Given the description of an element on the screen output the (x, y) to click on. 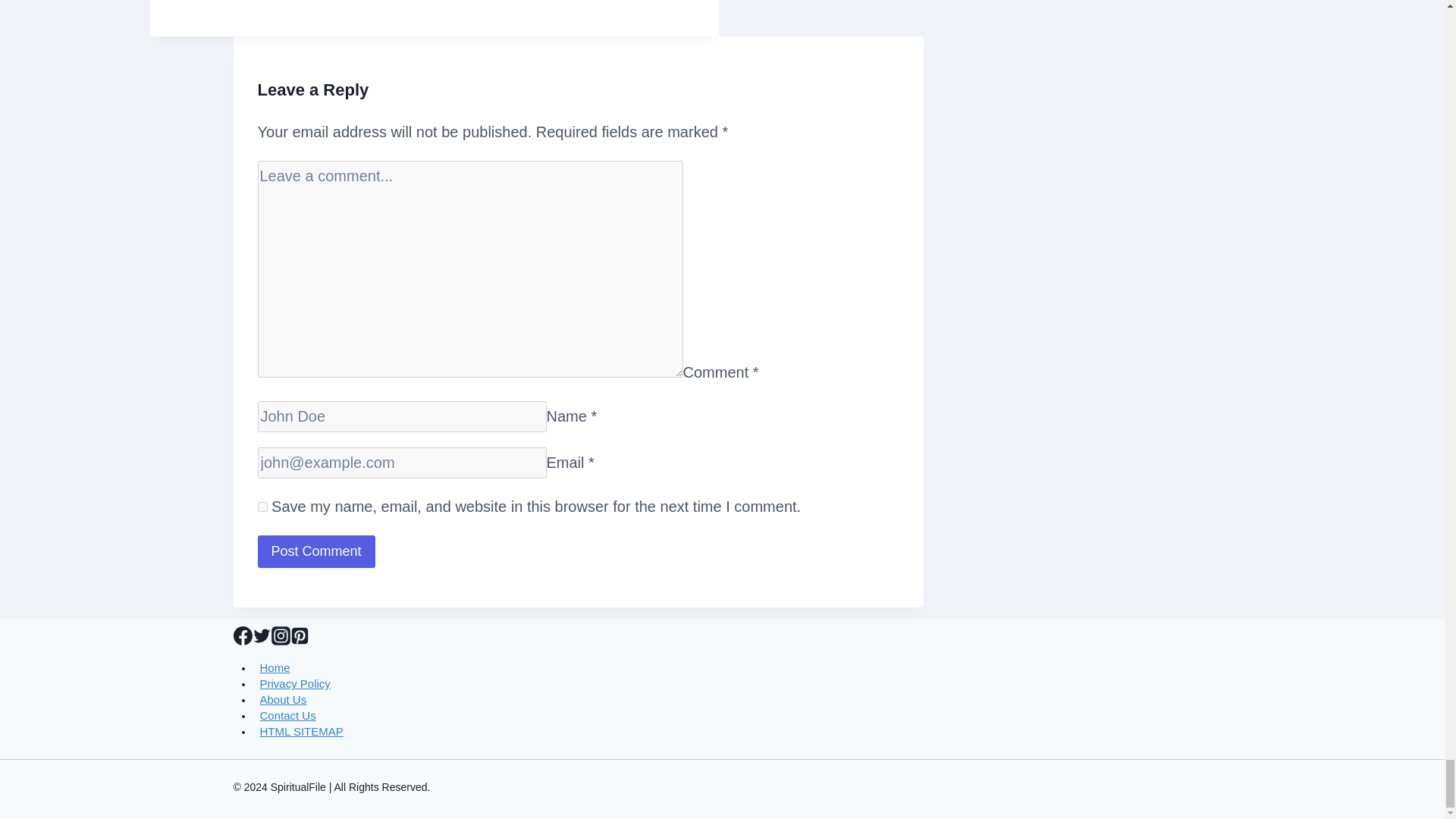
yes (262, 506)
Post Comment (316, 551)
